Given the description of an element on the screen output the (x, y) to click on. 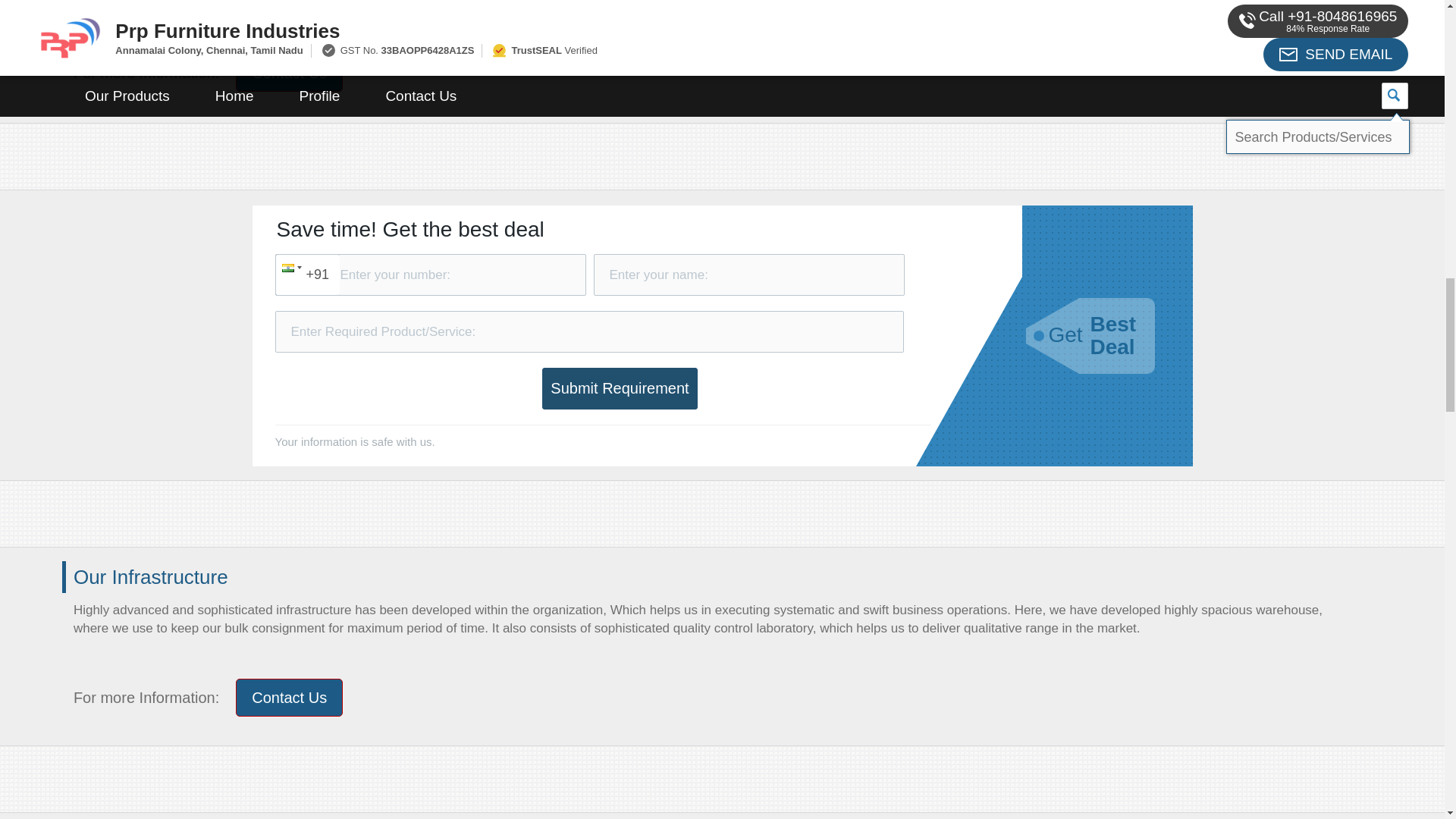
Enter your number: (430, 274)
Submit Requirement (619, 388)
Submit Requirement (619, 388)
Enter your name: (748, 274)
